Given the description of an element on the screen output the (x, y) to click on. 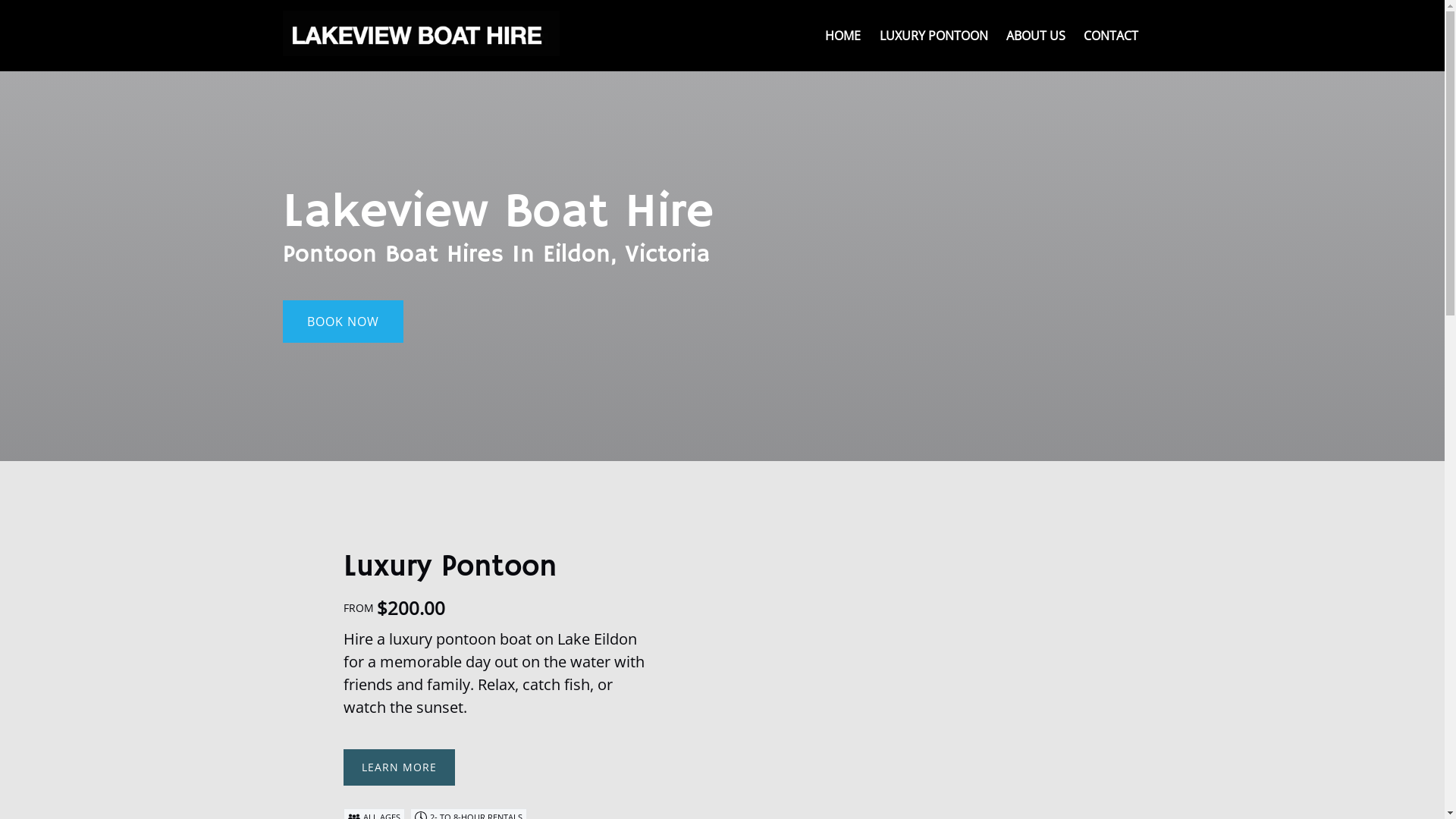
LUXURY PONTOON Element type: text (933, 35)
LEARN MORE Element type: text (398, 757)
CONTACT Element type: text (1109, 35)
HOME Element type: text (842, 35)
BOOK NOW Element type: text (342, 278)
Skip to primary navigation Element type: text (82, 16)
Skip to footer Element type: text (45, 16)
ABOUT US Element type: text (1034, 35)
Skip to content Element type: text (50, 16)
Luxury Pontoon Element type: text (448, 567)
